Given the description of an element on the screen output the (x, y) to click on. 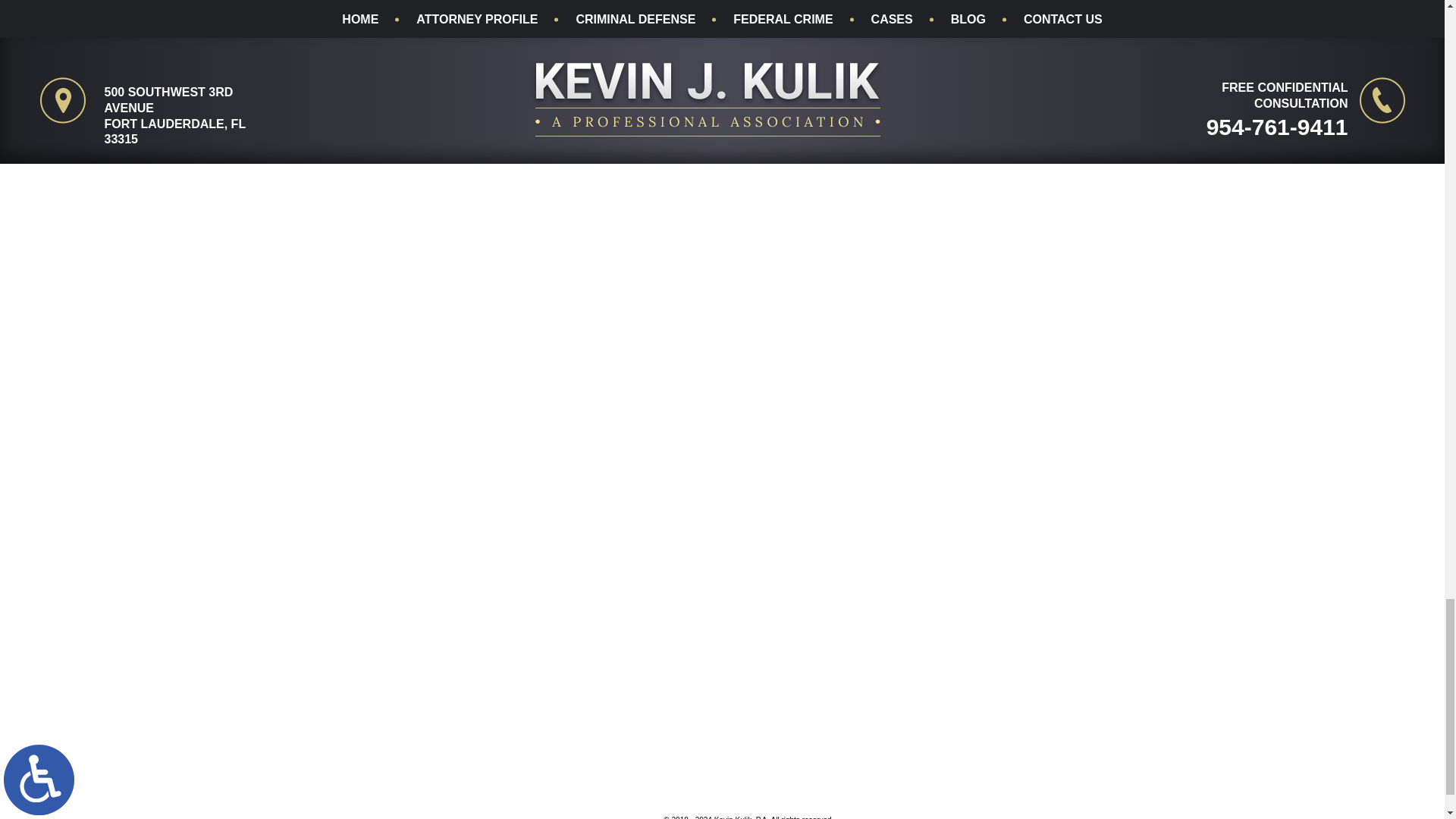
MileMark Media (590, 812)
